Given the description of an element on the screen output the (x, y) to click on. 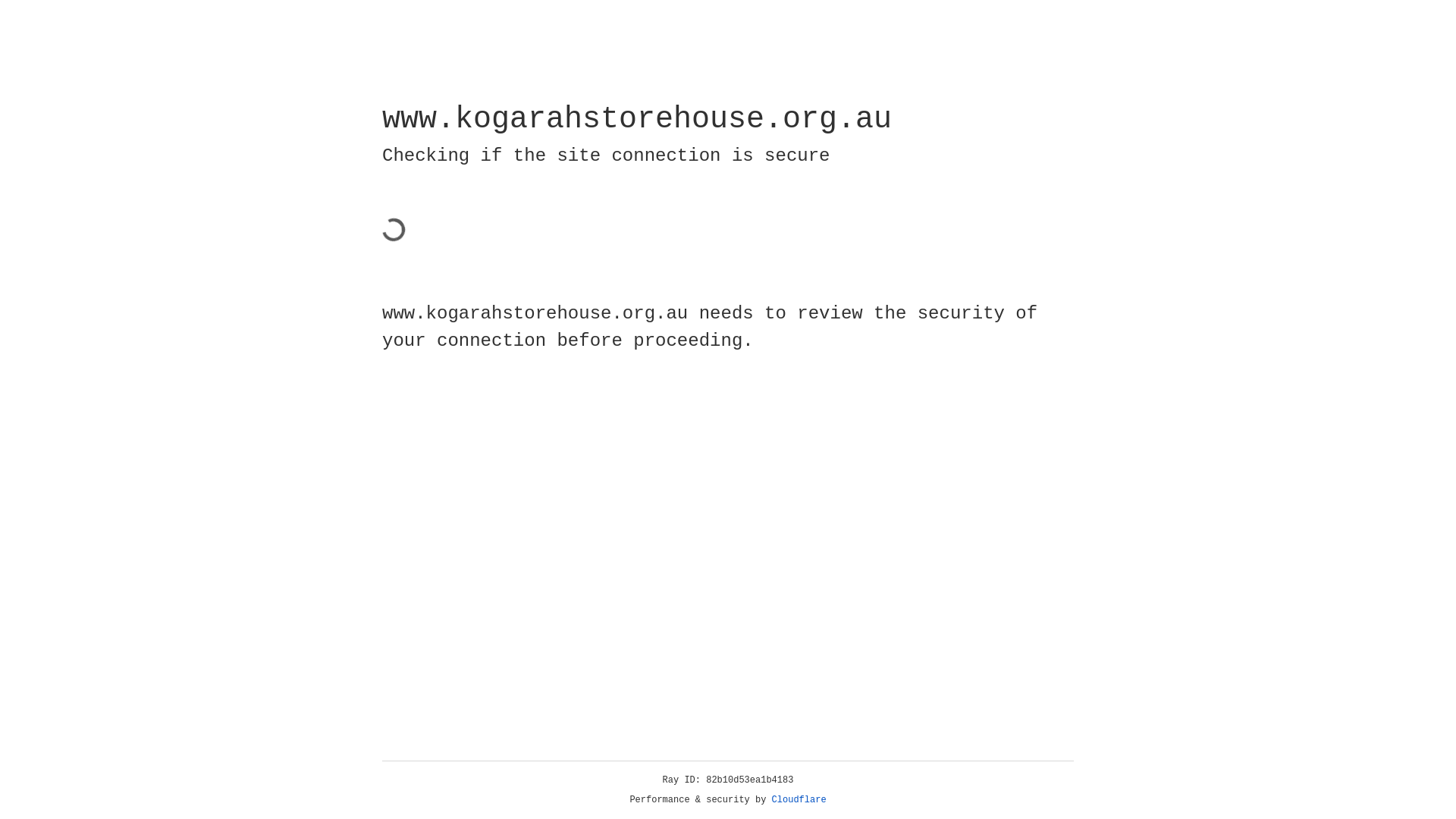
Cloudflare Element type: text (798, 799)
